Given the description of an element on the screen output the (x, y) to click on. 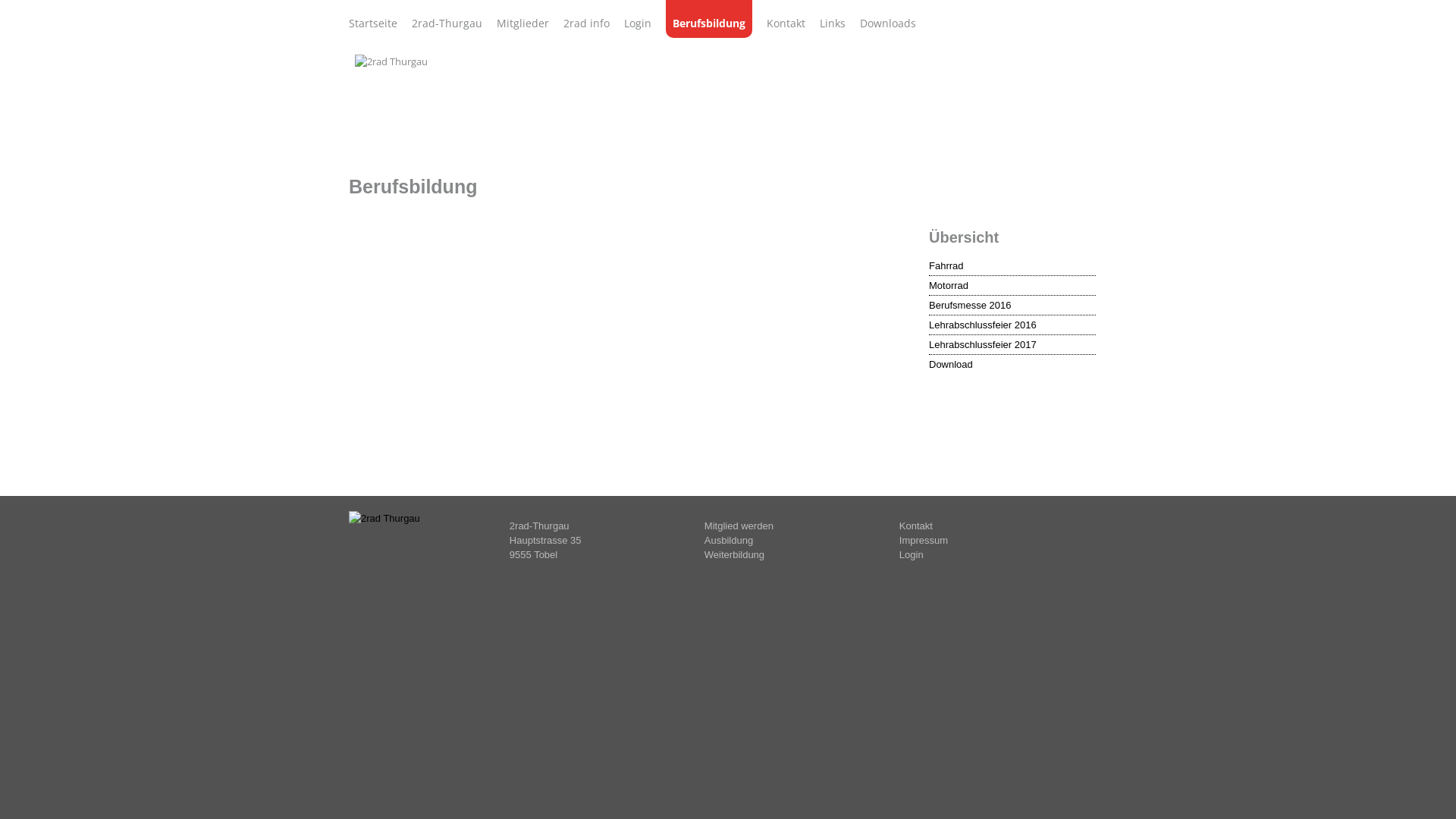
Mitglied werden Element type: text (738, 525)
Links Element type: text (832, 22)
2rad Thurgau  Element type: hover (384, 518)
Kontakt Element type: text (785, 22)
Download Element type: text (1011, 365)
Fahrrad Element type: text (1011, 267)
Kontakt Element type: text (915, 525)
Downloads Element type: text (887, 22)
Startseite Element type: text (372, 22)
2rad info Element type: text (586, 22)
Berufsmesse 2016 Element type: text (1011, 306)
Mitglieder Element type: text (522, 22)
Lehrabschlussfeier 2016 Element type: text (1011, 326)
Impressum Element type: text (923, 540)
Berufsbildung Element type: text (708, 18)
Lehrabschlussfeier 2017 Element type: text (1011, 345)
2rad Thurgau  Element type: hover (390, 61)
2rad-Thurgau Element type: text (446, 22)
Login Element type: text (911, 554)
Motorrad Element type: text (1011, 286)
Ausbildung Element type: text (728, 540)
Weiterbildung Element type: text (734, 554)
Login Element type: text (637, 22)
